Given the description of an element on the screen output the (x, y) to click on. 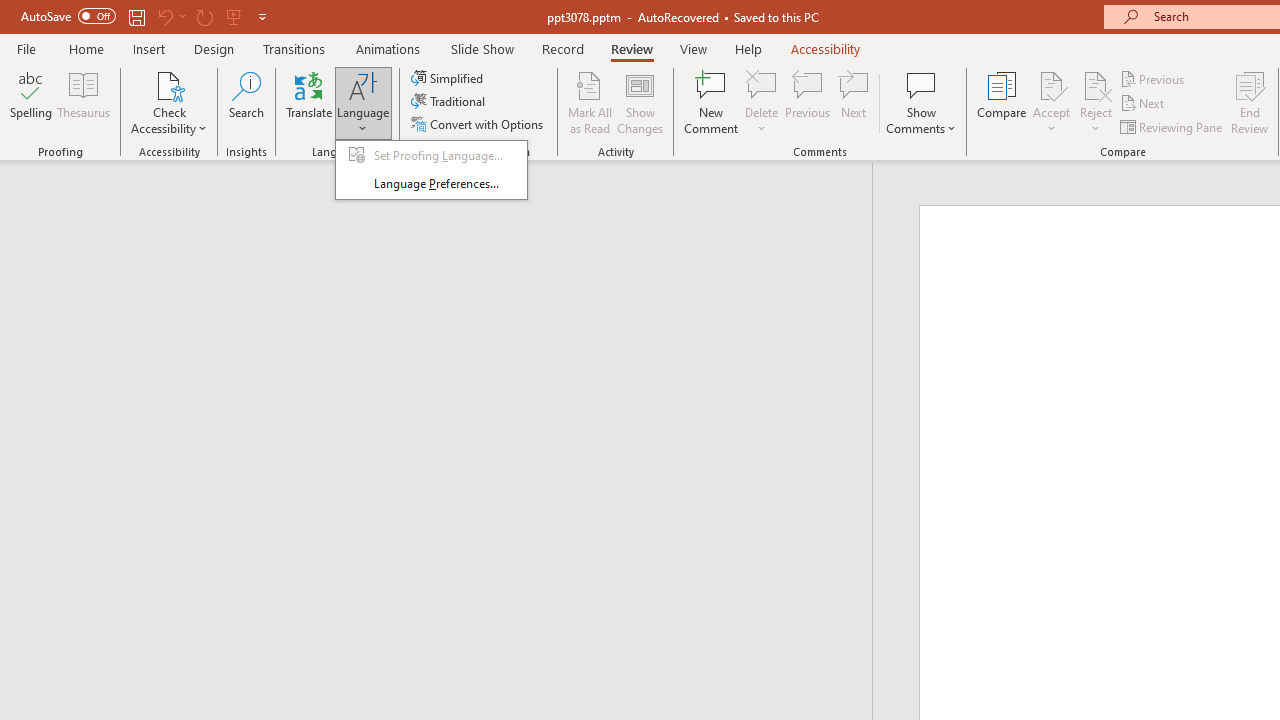
Language (363, 102)
Accept Change (1051, 84)
Accessibility (825, 48)
Show Changes (639, 102)
Traditional (449, 101)
Check Accessibility (169, 102)
End Review (1249, 102)
Reject (1096, 102)
